Given the description of an element on the screen output the (x, y) to click on. 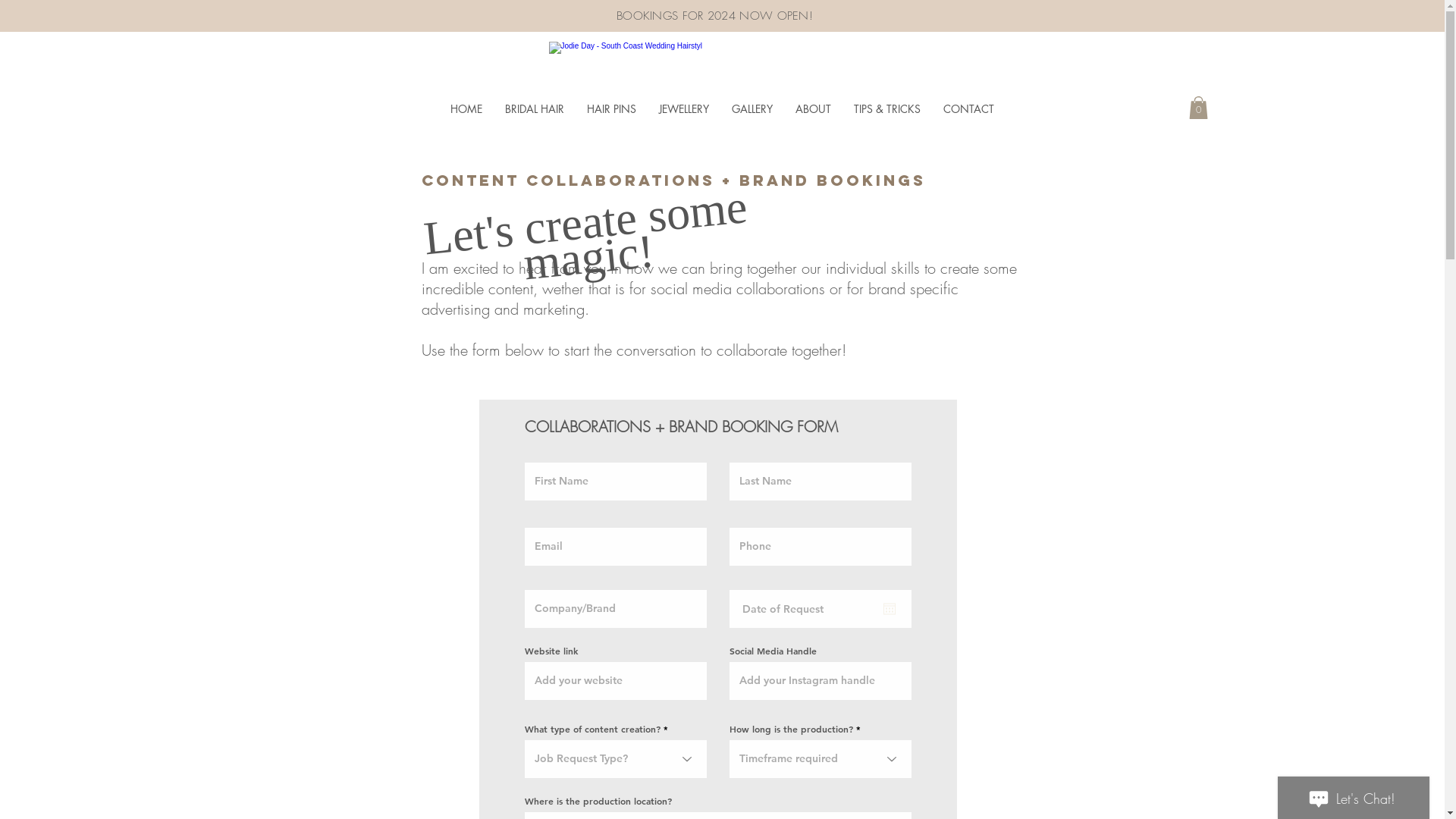
HAIR PINS Element type: text (611, 108)
ABOUT Element type: text (813, 108)
BRIDAL HAIR Element type: text (534, 108)
GALLERY Element type: text (752, 108)
HOME Element type: text (466, 108)
TIPS & TRICKS Element type: text (886, 108)
JEWELLERY Element type: text (683, 108)
0 Element type: text (1198, 107)
CONTACT Element type: text (968, 108)
